Given the description of an element on the screen output the (x, y) to click on. 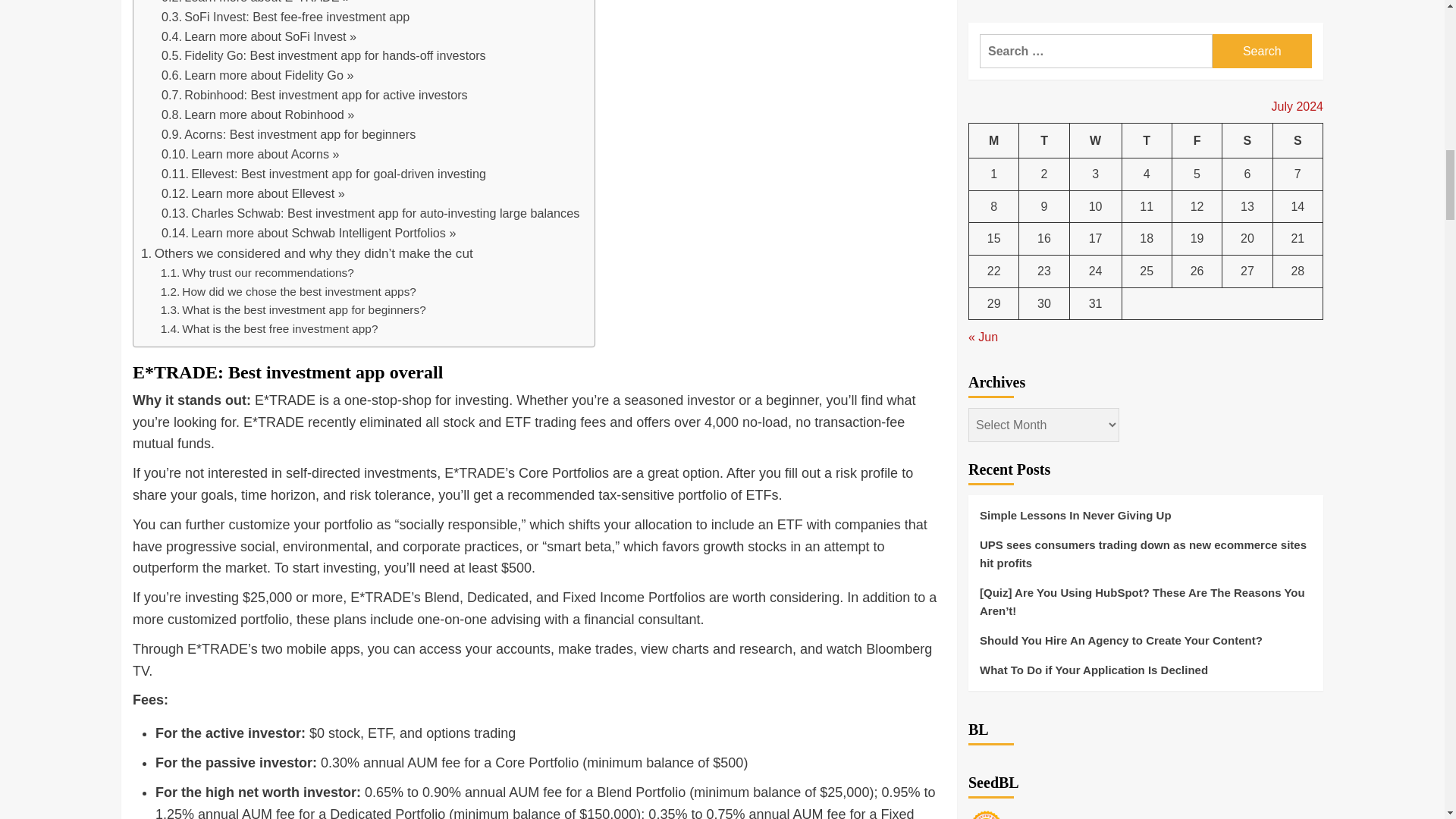
Robinhood: Best investment app for active investors (314, 95)
What is the best investment app for beginners? (293, 310)
Why trust our recommendations? (256, 272)
SoFi Invest: Best fee-free investment app (285, 17)
Fidelity Go: Best investment app for hands-off investors (323, 55)
SoFi Invest: Best fee-free investment app (285, 17)
How did we chose the best investment apps? (288, 292)
Acorns: Best investment app for beginners (287, 134)
Robinhood: Best investment app for active investors (314, 95)
Acorns: Best investment app for beginners (287, 134)
Ellevest: Best investment app for goal-driven investing (323, 174)
Fidelity Go: Best investment app for hands-off investors (323, 55)
Ellevest: Best investment app for goal-driven investing (323, 174)
